Given the description of an element on the screen output the (x, y) to click on. 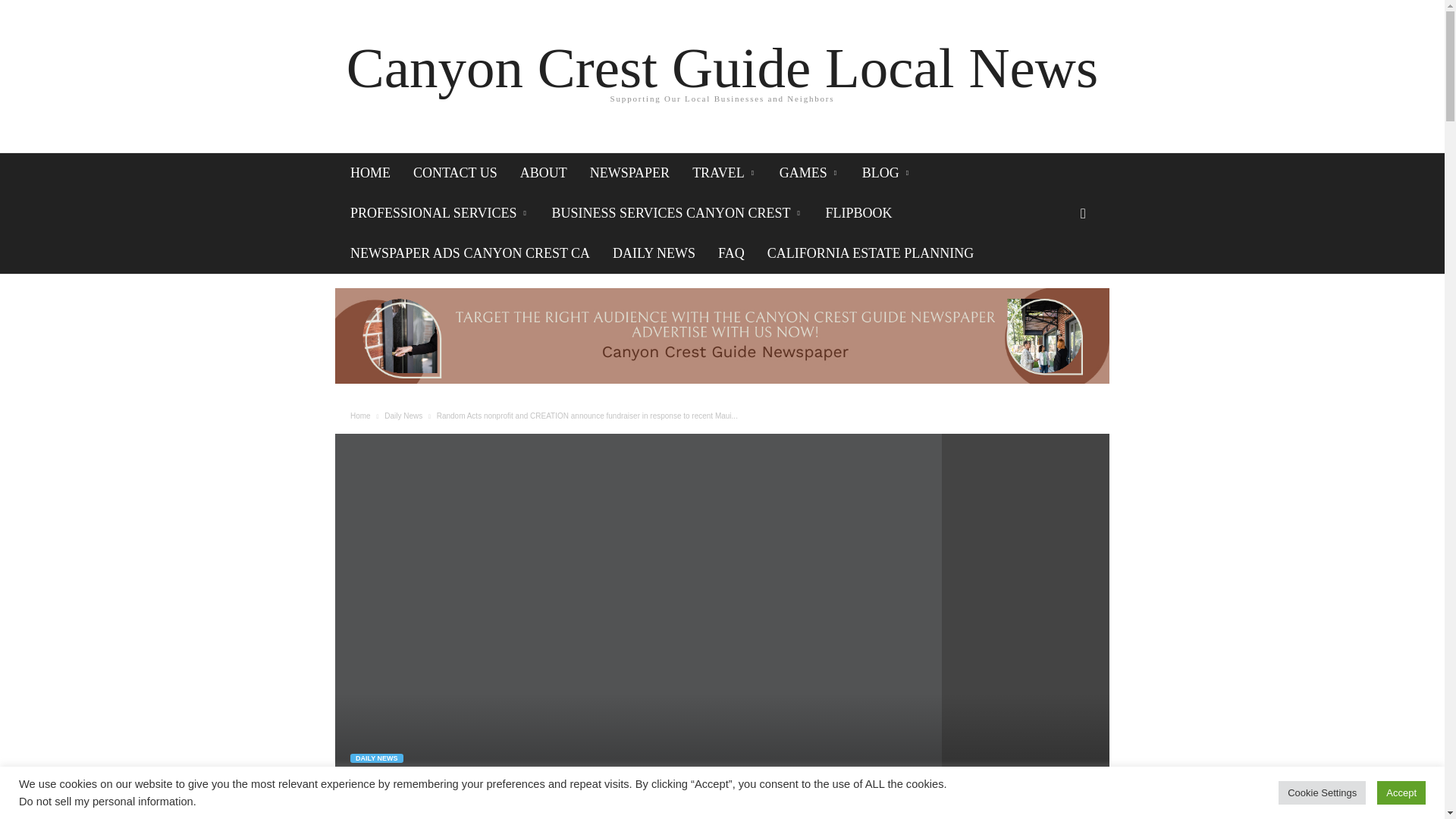
View all posts in Daily News (403, 415)
